Given the description of an element on the screen output the (x, y) to click on. 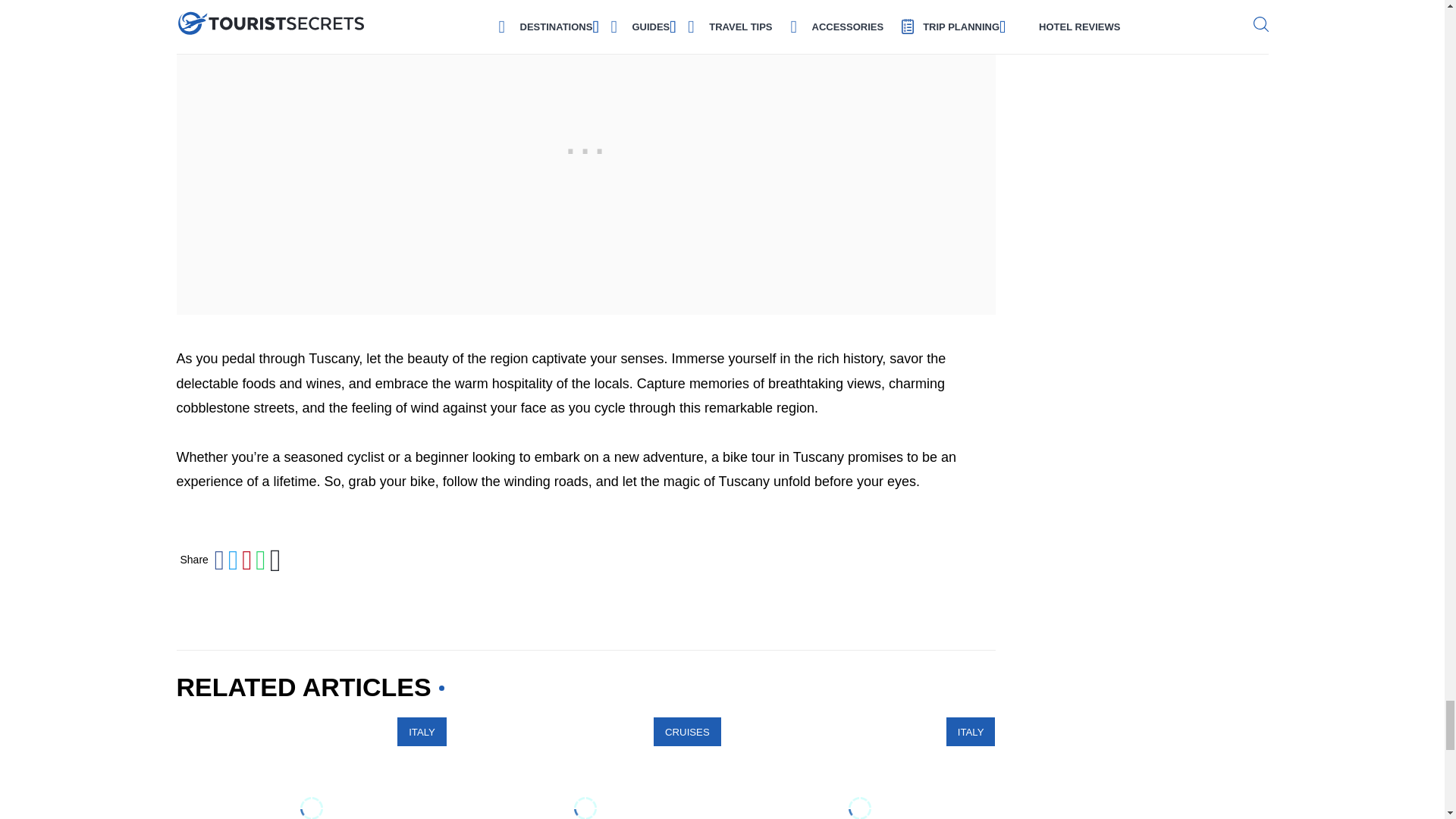
The-Tuscan-Countryside (859, 768)
Where-Do-Cruise-Ships-Dock-In-Florence-Italy (584, 768)
Life-On-An-Agriturismo-In-Southern-Tuscany (310, 768)
